Given the description of an element on the screen output the (x, y) to click on. 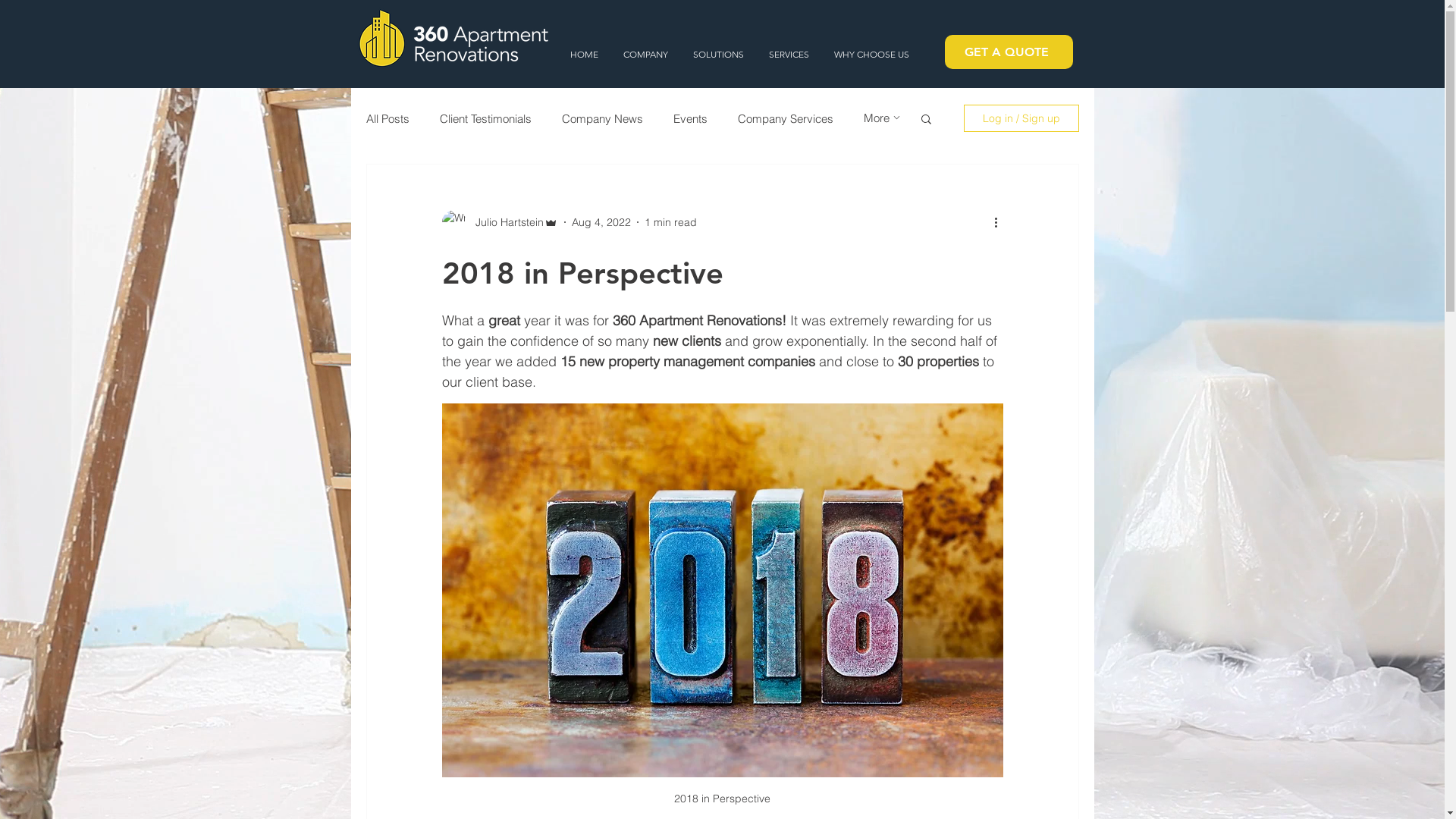
HOME Element type: text (584, 54)
Events Element type: text (690, 117)
Client Testimonials Element type: text (485, 117)
SERVICES Element type: text (789, 54)
Company News Element type: text (601, 117)
COMPANY Element type: text (645, 54)
GET A QUOTE Element type: text (1008, 51)
Company Services Element type: text (784, 117)
All Posts Element type: text (386, 117)
Log in / Sign up Element type: text (1020, 117)
SOLUTIONS Element type: text (718, 54)
WHY CHOOSE US Element type: text (872, 54)
